Given the description of an element on the screen output the (x, y) to click on. 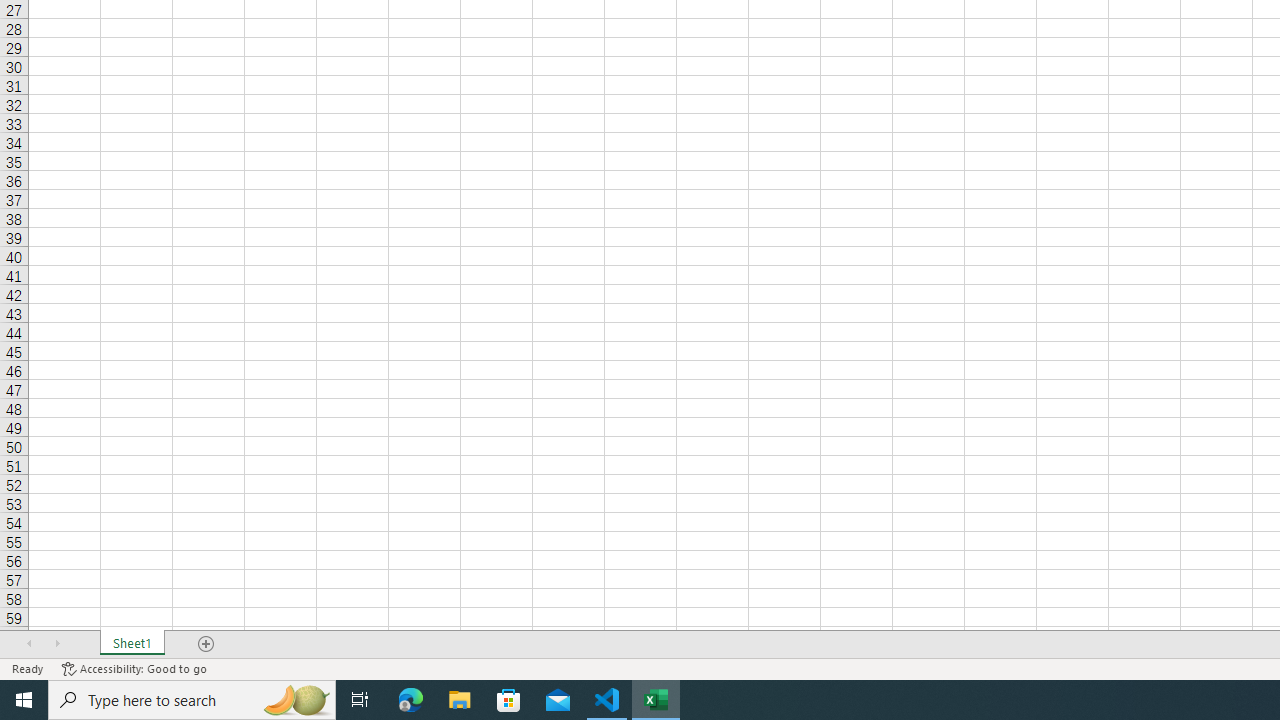
Scroll Right (57, 644)
Sheet1 (132, 644)
Add Sheet (207, 644)
Scroll Left (29, 644)
Accessibility Checker Accessibility: Good to go (134, 668)
